Given the description of an element on the screen output the (x, y) to click on. 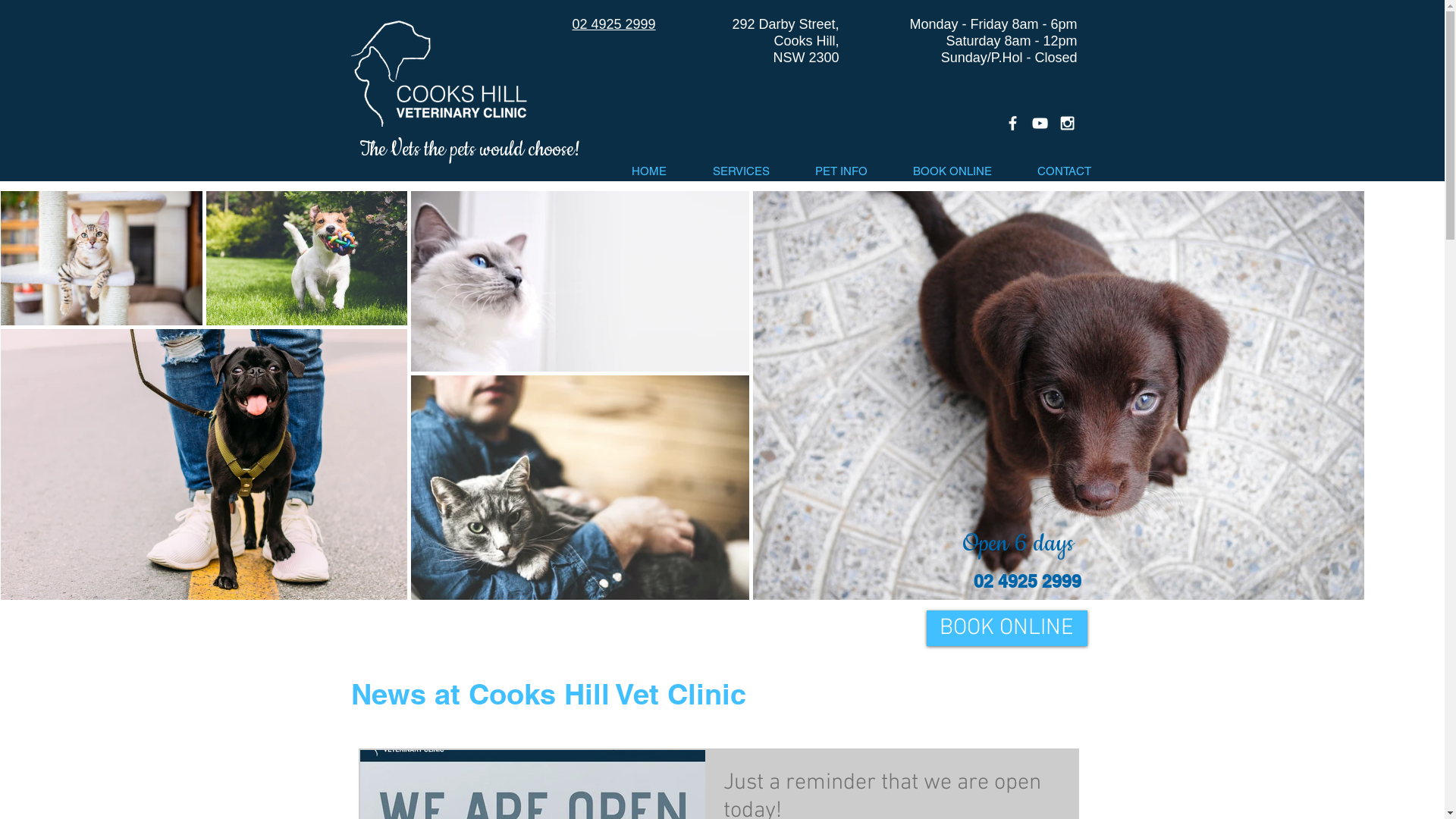
PET INFO Element type: text (840, 171)
02 4925 2999 Element type: text (1027, 581)
02 4925 2999 Element type: text (613, 25)
HOME Element type: text (648, 171)
PET INFO Element type: text (938, 259)
BOOK ONLINE Element type: text (952, 171)
SERVICES Element type: text (741, 171)
CONTACT Element type: text (1063, 171)
BOOK ONLINE Element type: text (1006, 628)
SERVICES Element type: text (835, 259)
HOME Element type: text (731, 259)
